Given the description of an element on the screen output the (x, y) to click on. 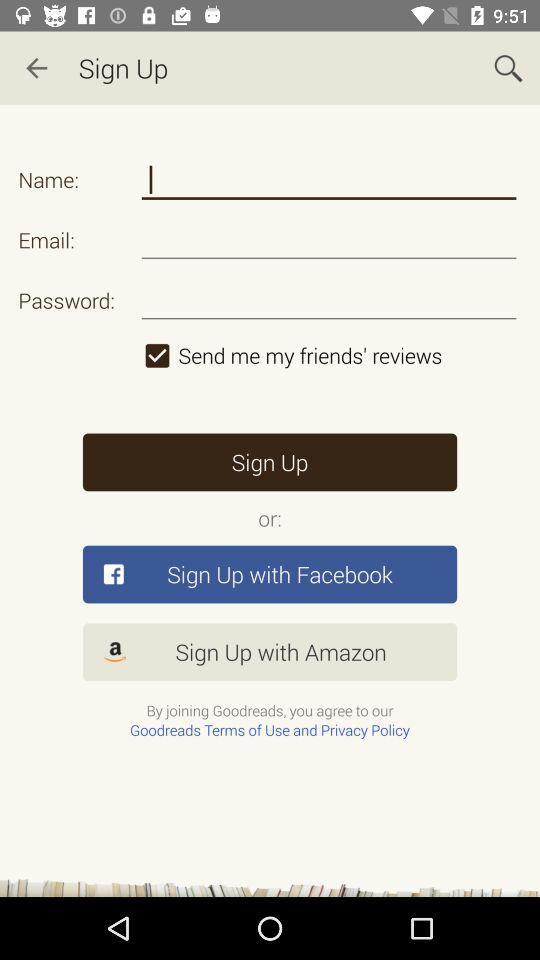
click the item to the left of the sign up app (36, 68)
